Given the description of an element on the screen output the (x, y) to click on. 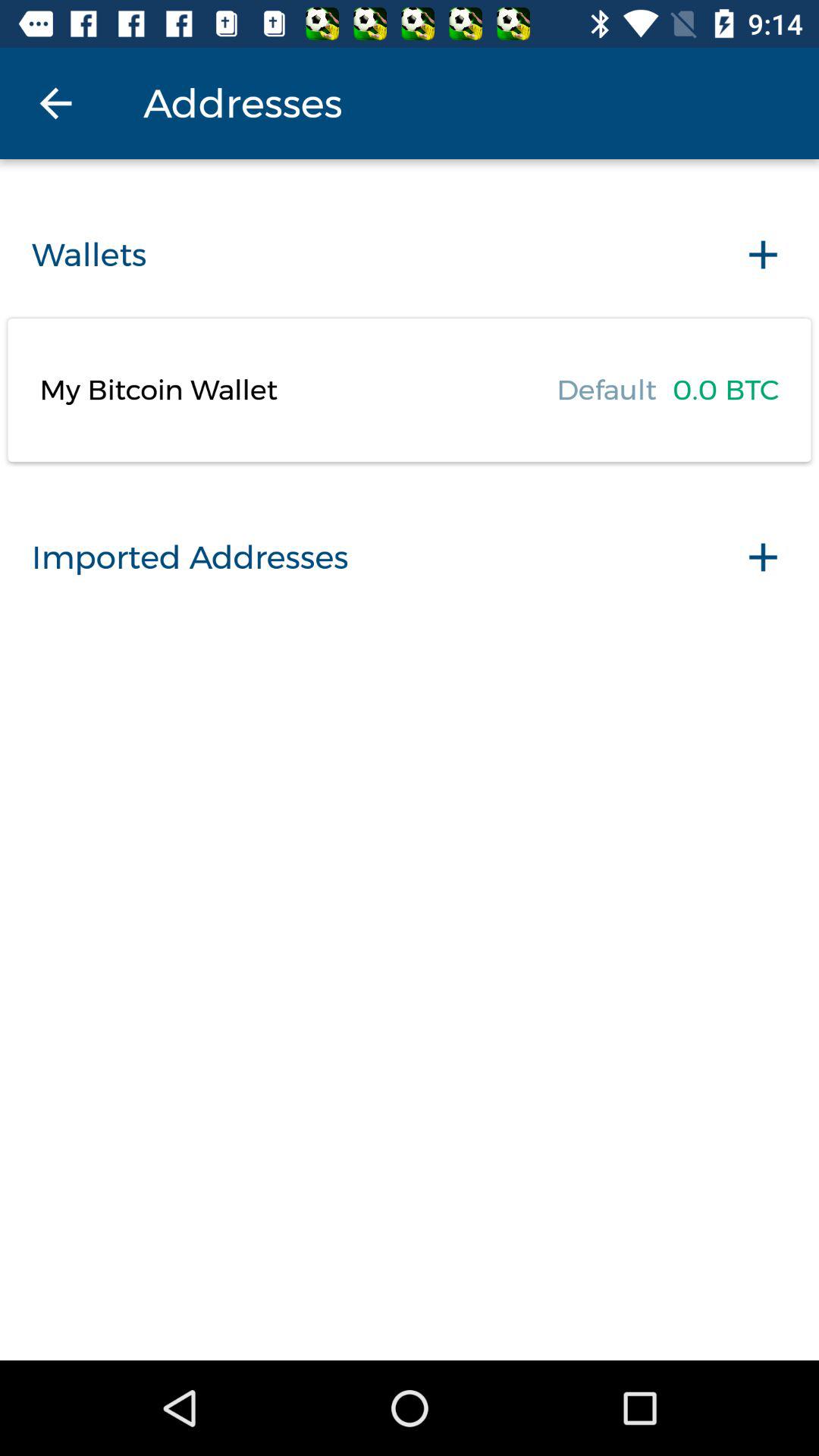
click the icon above the wallets icon (55, 103)
